Given the description of an element on the screen output the (x, y) to click on. 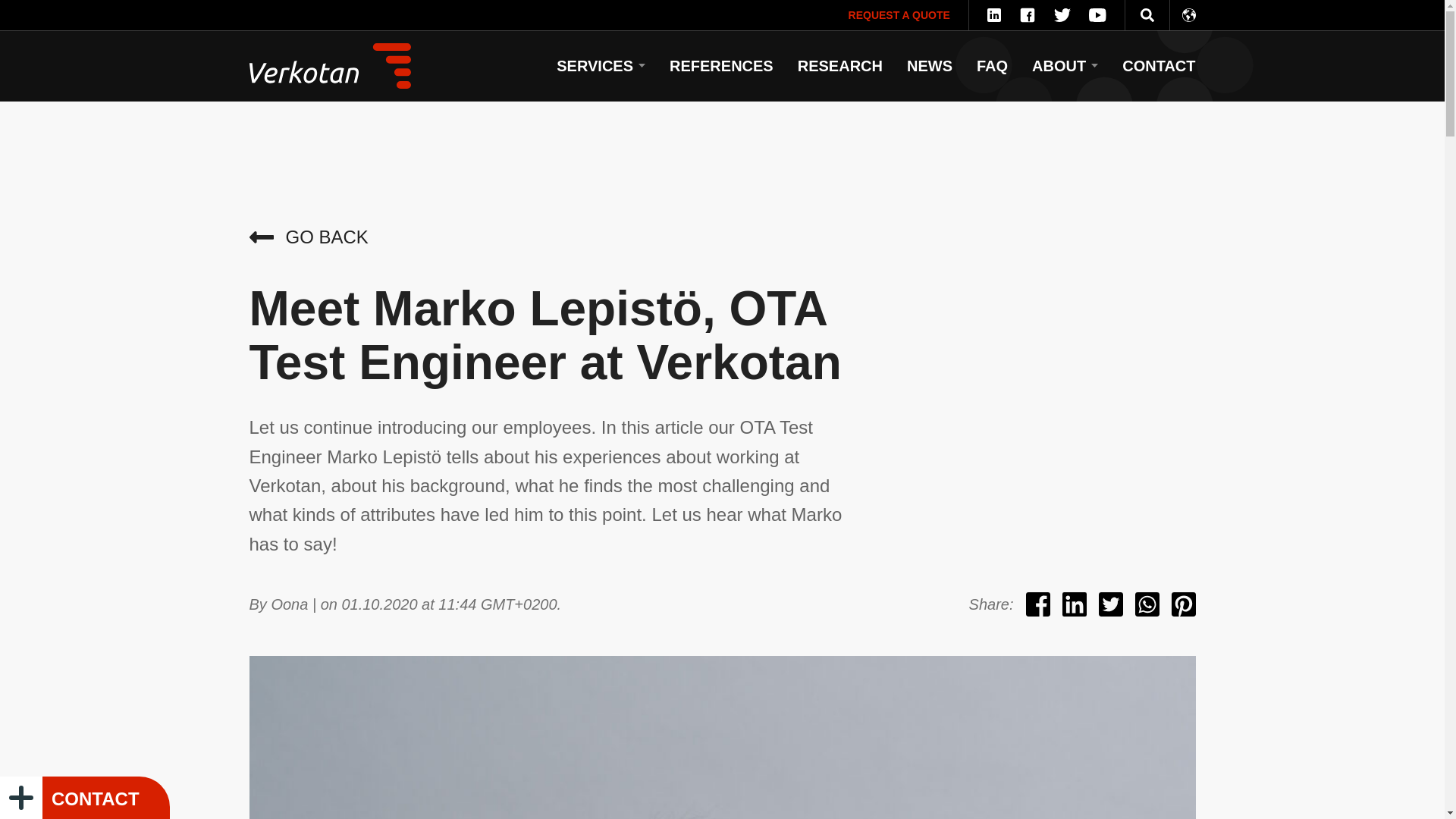
Services (594, 65)
ABOUT (1058, 65)
SERVICES (594, 65)
NEWS (929, 65)
FAQ (991, 65)
Request a quote (899, 15)
RESEARCH (840, 65)
REFERENCES (722, 65)
REQUEST A QUOTE (899, 15)
